Given the description of an element on the screen output the (x, y) to click on. 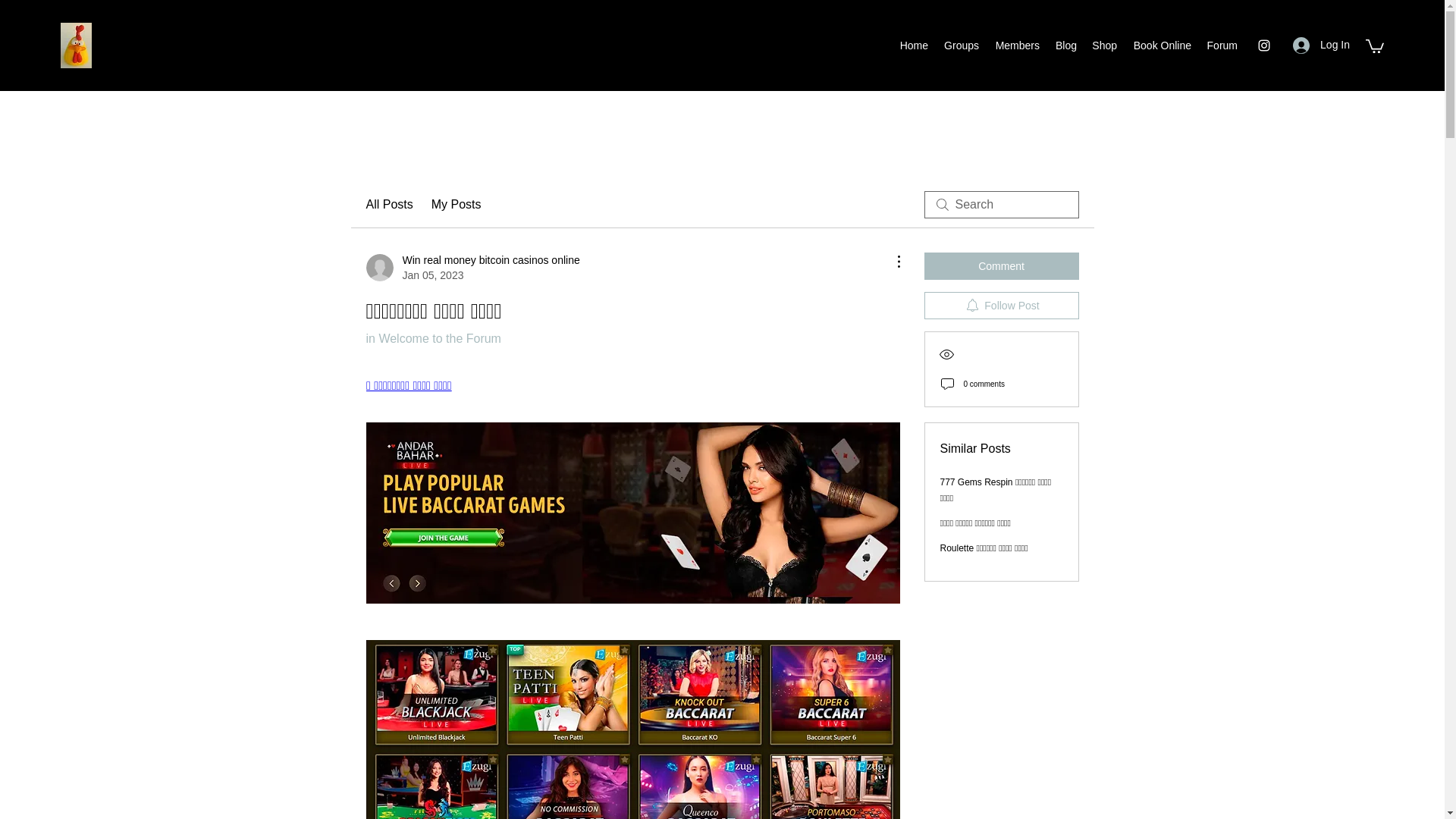
Groups (961, 45)
Book Online (1161, 45)
Home (913, 45)
Shop (472, 267)
My Posts (1104, 45)
Follow Post (455, 204)
Members (1000, 305)
in Welcome to the Forum (1016, 45)
All Posts (432, 338)
Comment (388, 204)
Log In (1000, 266)
Forum (1320, 44)
Blog (1221, 45)
